Given the description of an element on the screen output the (x, y) to click on. 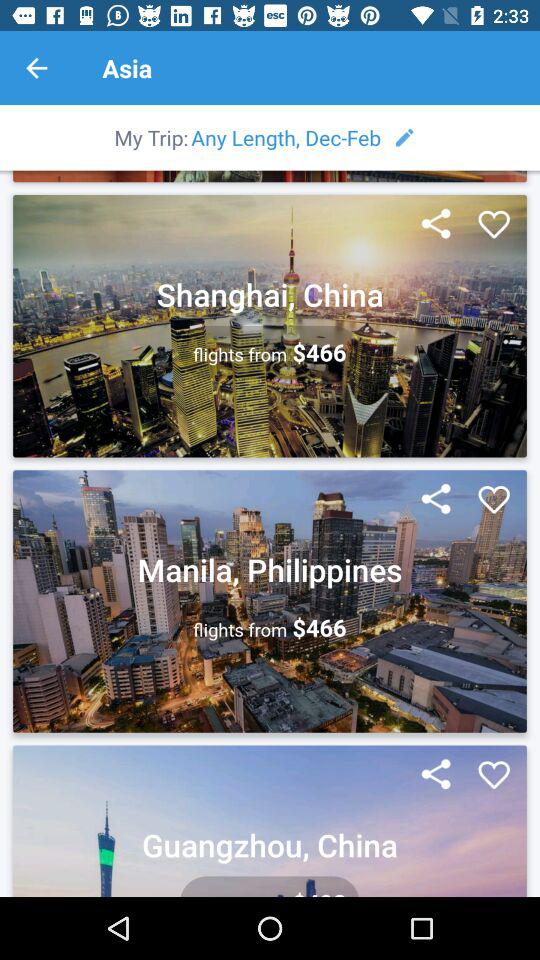
share (435, 500)
